Given the description of an element on the screen output the (x, y) to click on. 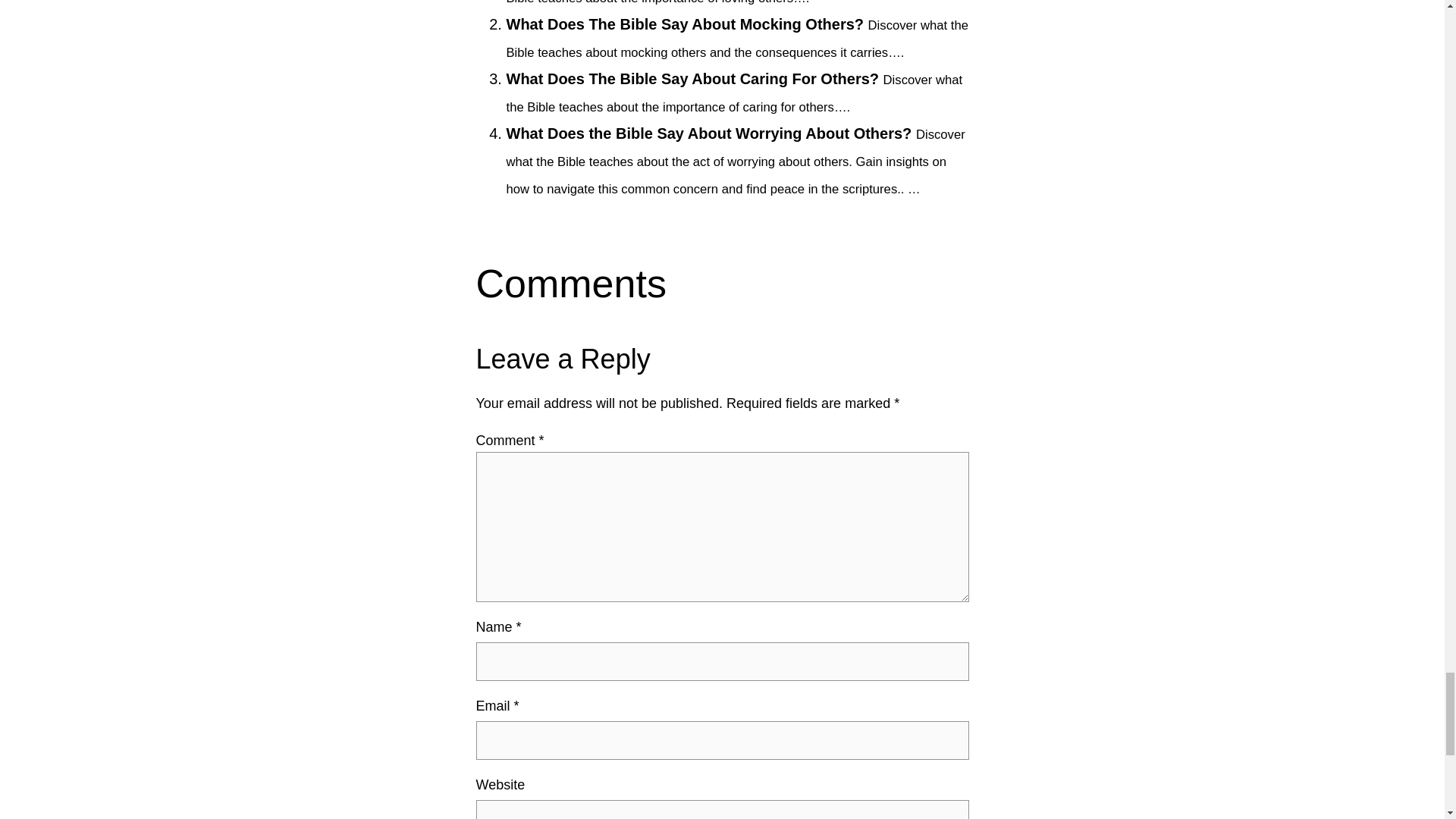
What Does The Bible Say About Mocking Others? (685, 23)
What Does the Bible Say About Worrying About Others? (709, 133)
What Does The Bible Say About Mocking Others? (685, 23)
What Does The Bible Say About Caring For Others? (692, 78)
What Does The Bible Say About Caring For Others? (692, 78)
What Does the Bible Say About Worrying About Others? (709, 133)
